Given the description of an element on the screen output the (x, y) to click on. 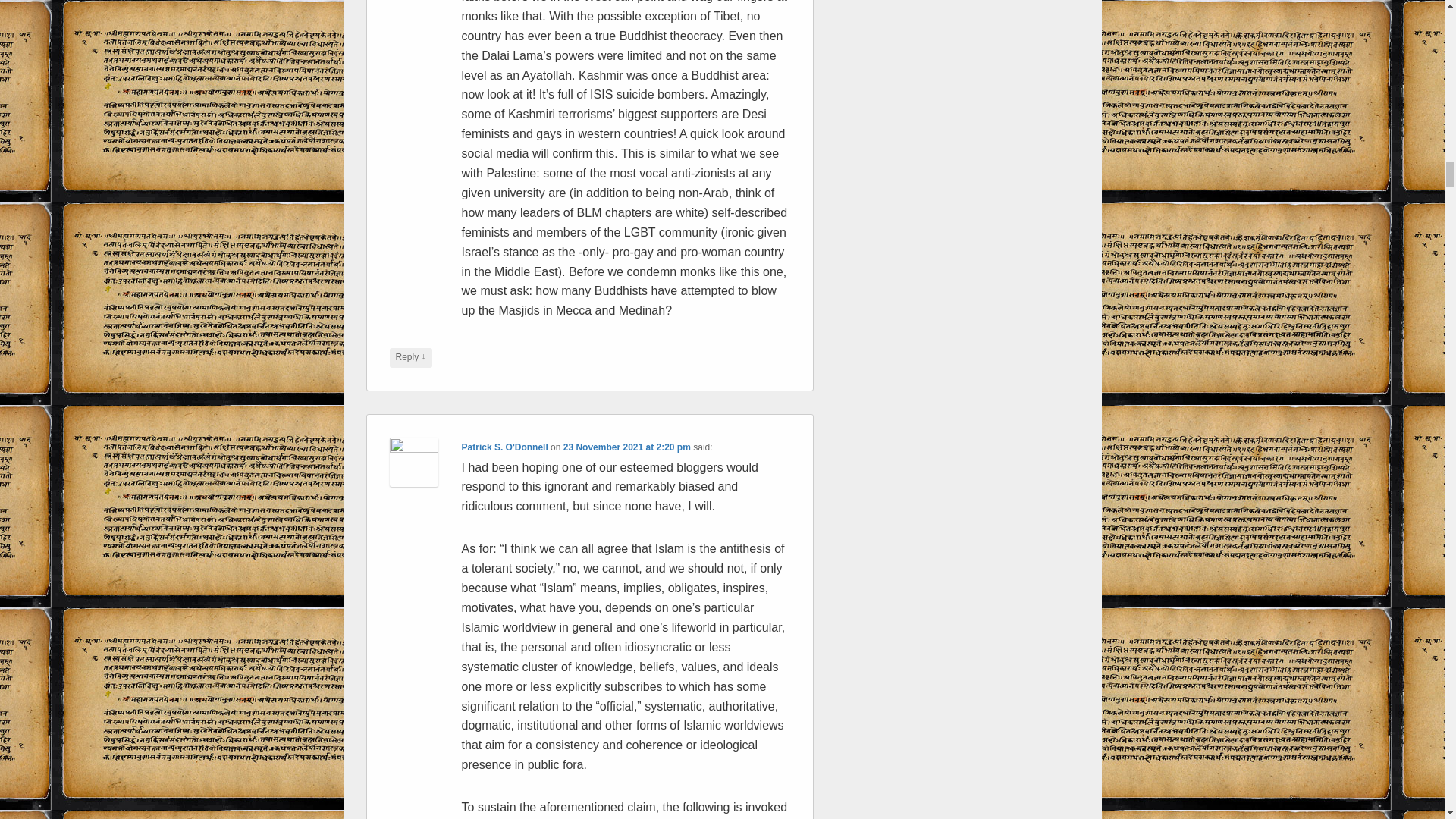
23 November 2021 at 2:20 pm (626, 447)
Patrick S. O'Donnell (504, 447)
